Given the description of an element on the screen output the (x, y) to click on. 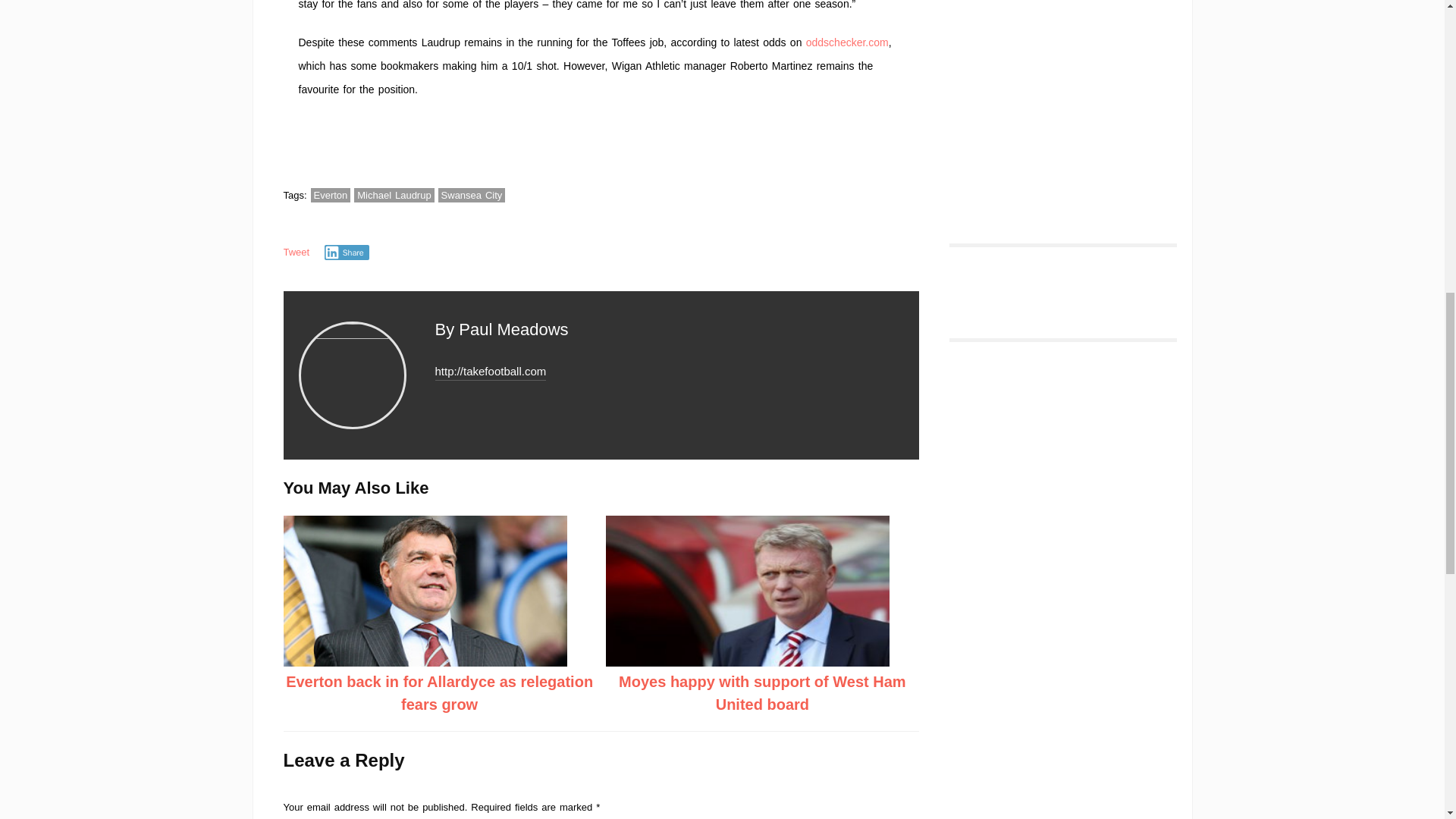
Everton (330, 195)
Michael Laudrup (393, 195)
Swansea City (471, 195)
Visit my Website (491, 372)
Moyes happy with support of West Ham United board (761, 692)
Share (346, 252)
oddschecker.com (847, 42)
Tweet (296, 251)
Advertisement (1053, 97)
Everton back in for Allardyce as relegation fears grow (438, 692)
By Paul Meadows (502, 329)
